Given the description of an element on the screen output the (x, y) to click on. 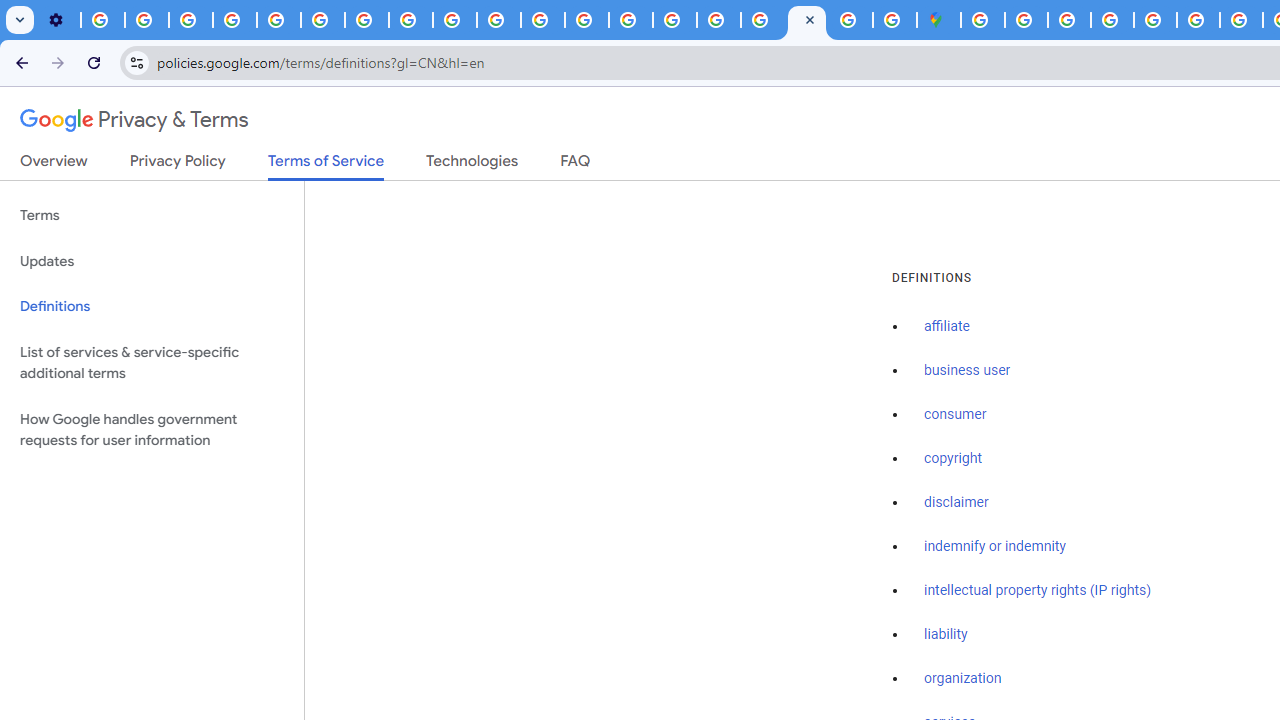
affiliate (947, 327)
List of services & service-specific additional terms (152, 362)
Terms and Conditions (1155, 20)
copyright (952, 459)
Delete photos & videos - Computer - Google Photos Help (102, 20)
